Given the description of an element on the screen output the (x, y) to click on. 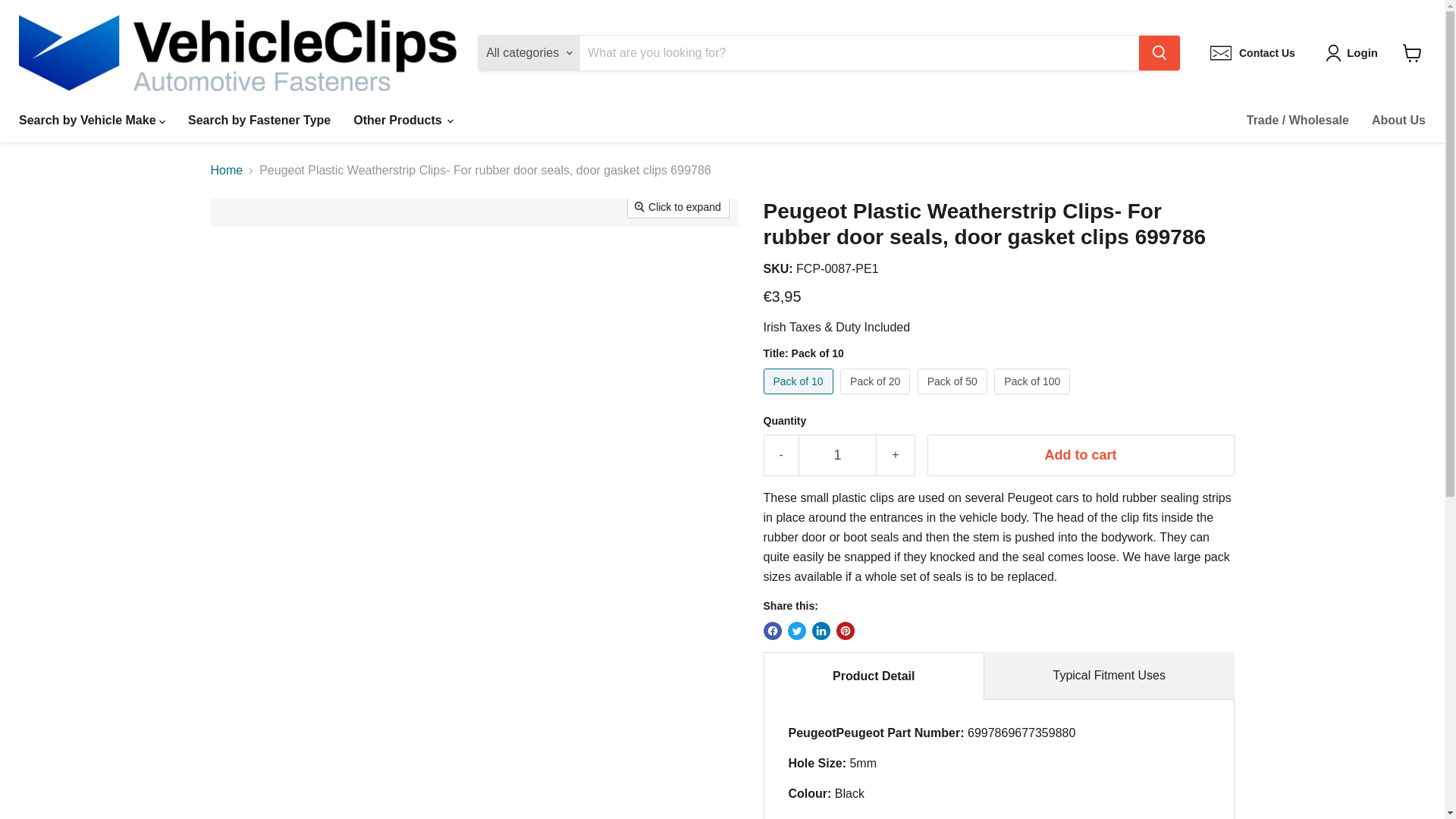
1 (836, 454)
Contact Us (1252, 52)
View cart (1411, 52)
Login (1354, 53)
